Given the description of an element on the screen output the (x, y) to click on. 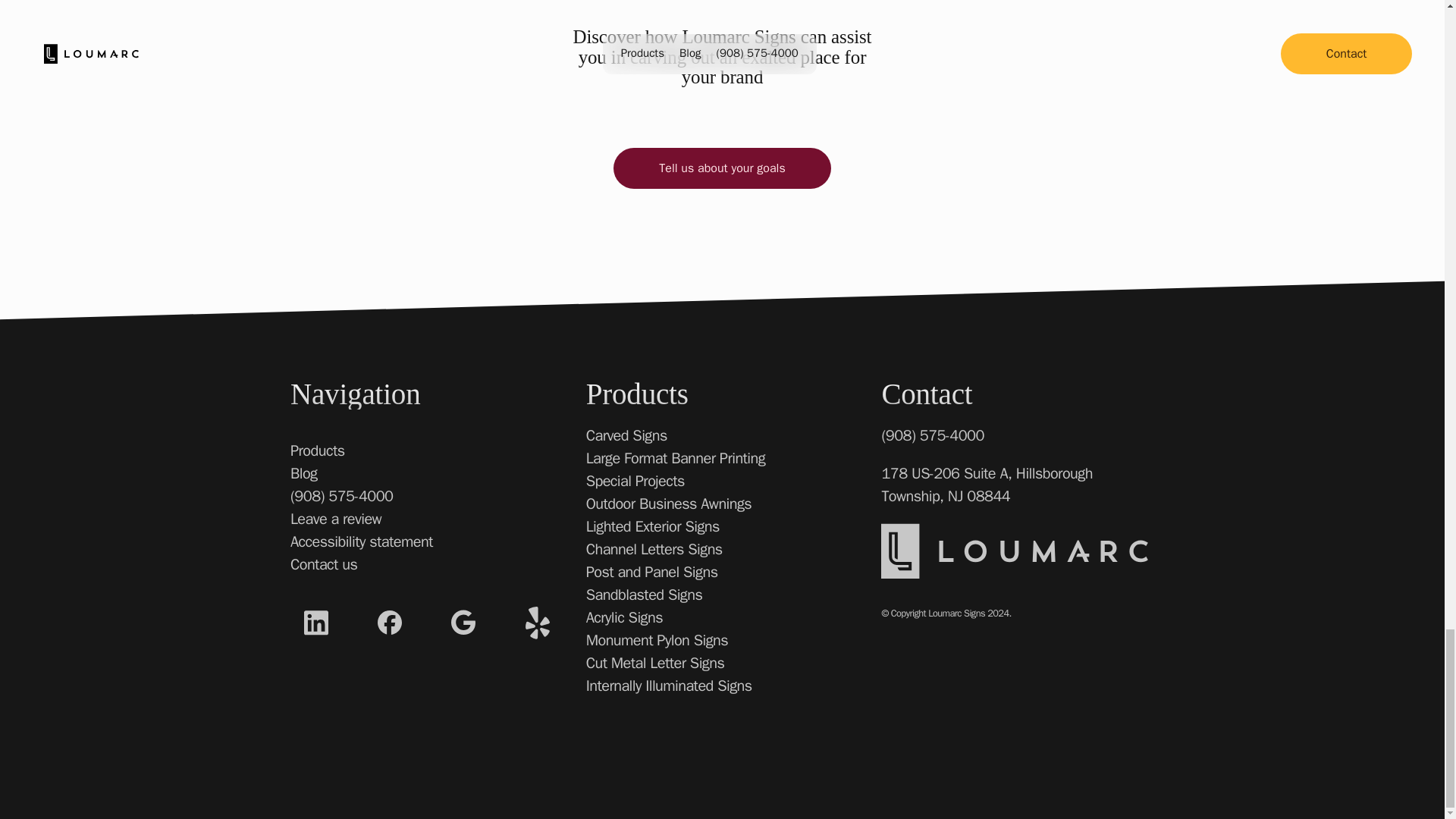
Facebook (389, 622)
Contact us (322, 564)
Loumarc Signs Logo (1014, 551)
Special Projects (635, 480)
Carved Signs (626, 435)
Tell us about your goals (720, 168)
Large Format Banner Printing (675, 457)
Leave a review (335, 518)
Sandblasted Signs (644, 594)
Lighted Exterior Signs (652, 526)
